Given the description of an element on the screen output the (x, y) to click on. 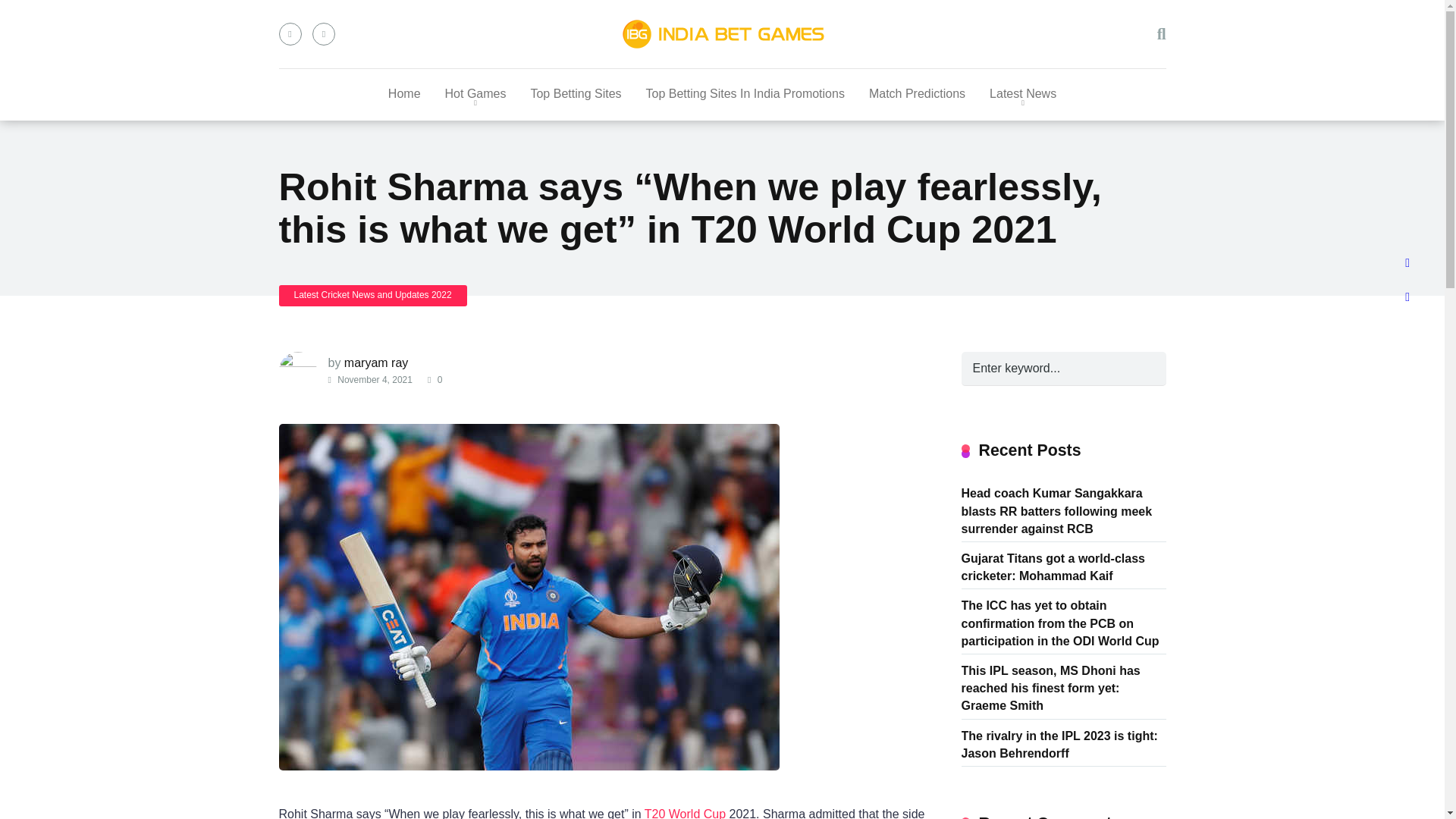
Facebook (290, 33)
Match Predictions (916, 94)
Posts by maryam ray (375, 362)
Home (403, 94)
Top Betting Sites In India Promotions (745, 94)
T20 World Cup (685, 813)
The rivalry in the IPL 2023 is tight: Jason Behrendorff (1058, 743)
Hot Games (475, 94)
Latest Cricket News and Updates 2022 (373, 295)
India Bet Games (721, 33)
Gujarat Titans got a world-class cricketer: Mohammad Kaif (1052, 566)
Twitter (323, 33)
